Given the description of an element on the screen output the (x, y) to click on. 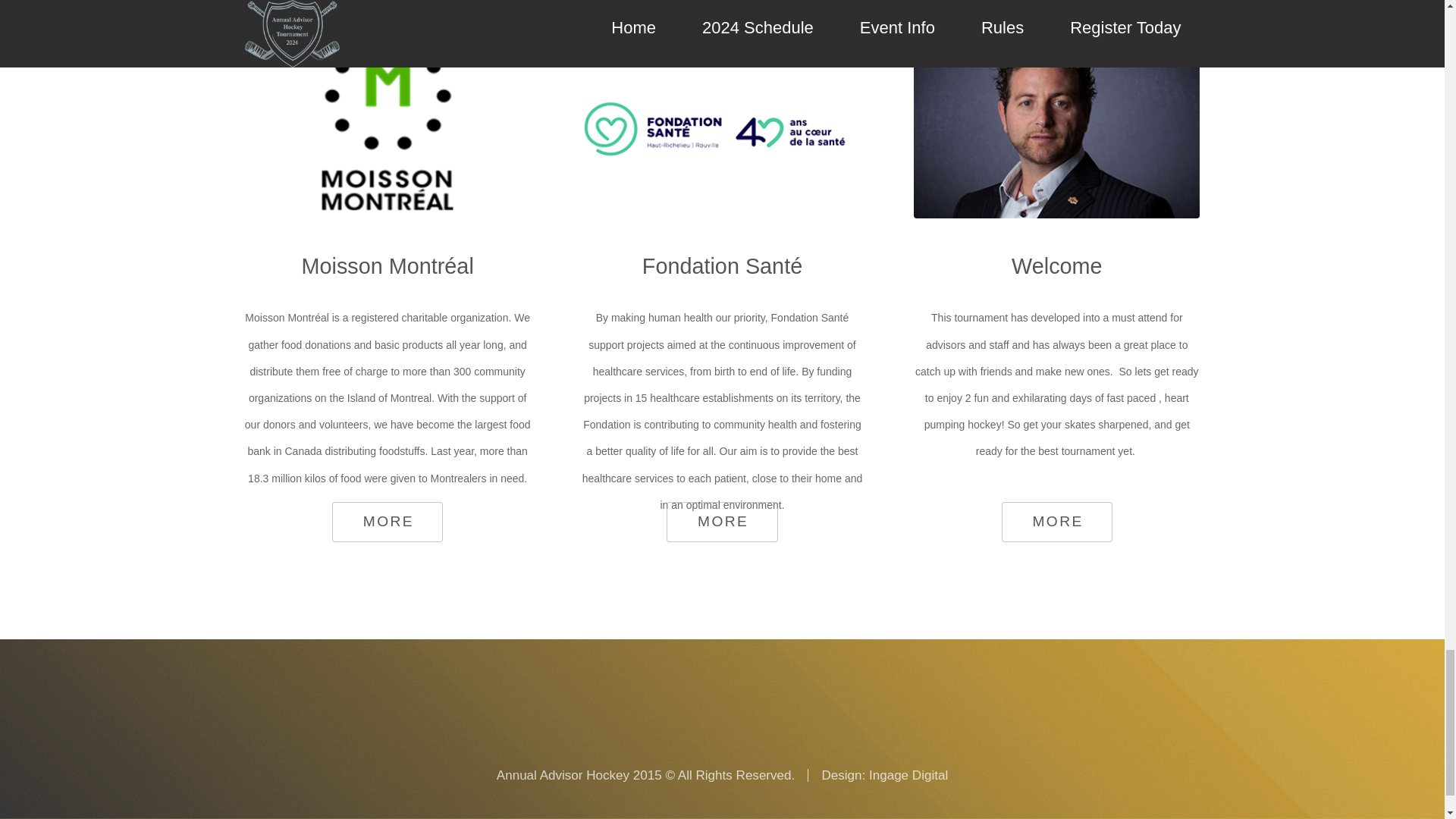
Ingage Digital (908, 775)
MORE (1056, 522)
MORE (721, 522)
MORE (386, 522)
